Given the description of an element on the screen output the (x, y) to click on. 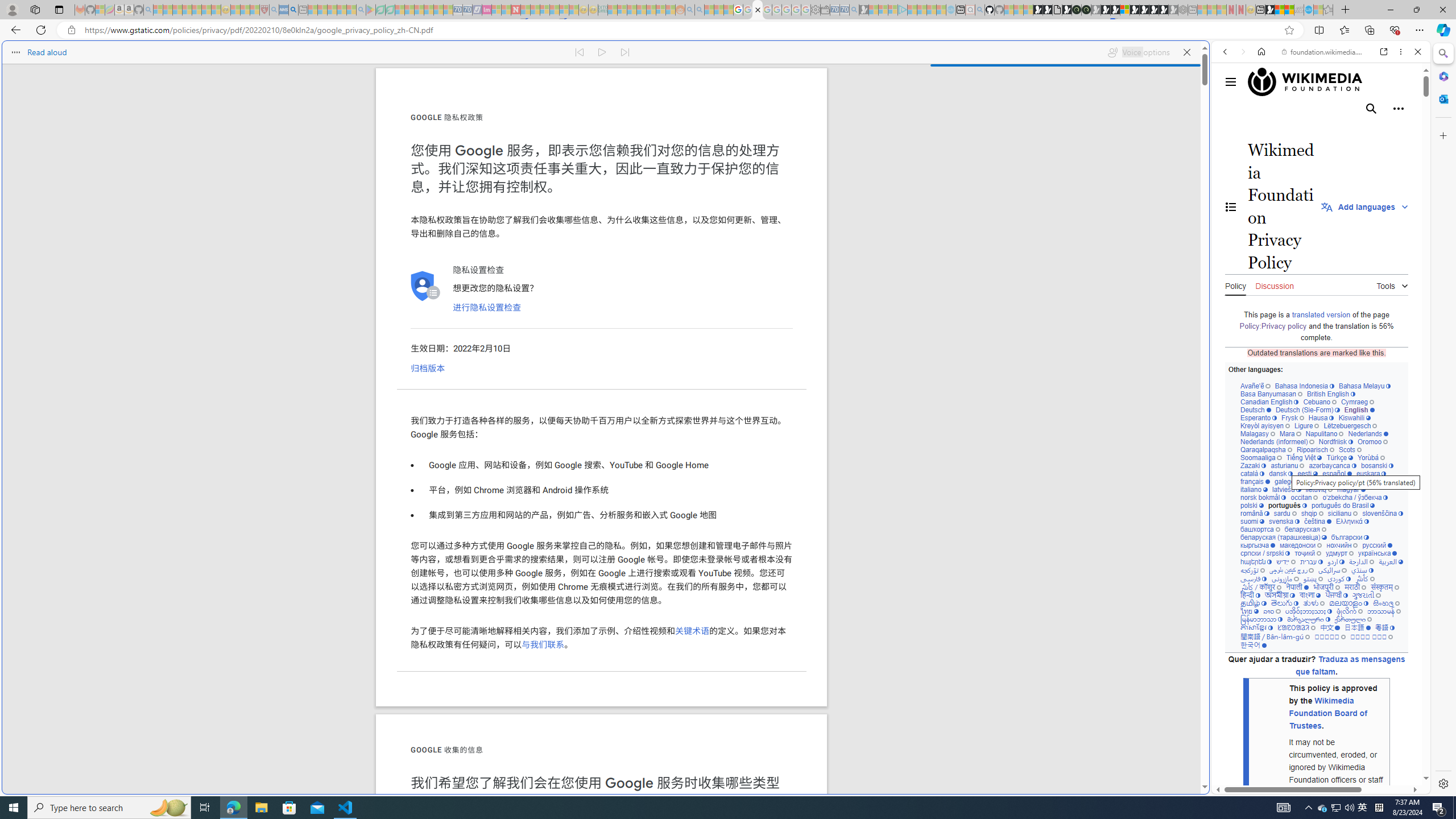
Wallet - Sleeping (824, 9)
Canadian English (1269, 401)
Policy:Privacy policy (1273, 325)
bosanski (1376, 465)
italiano (1254, 488)
google_privacy_policy_zh-CN.pdf (757, 9)
